Given the description of an element on the screen output the (x, y) to click on. 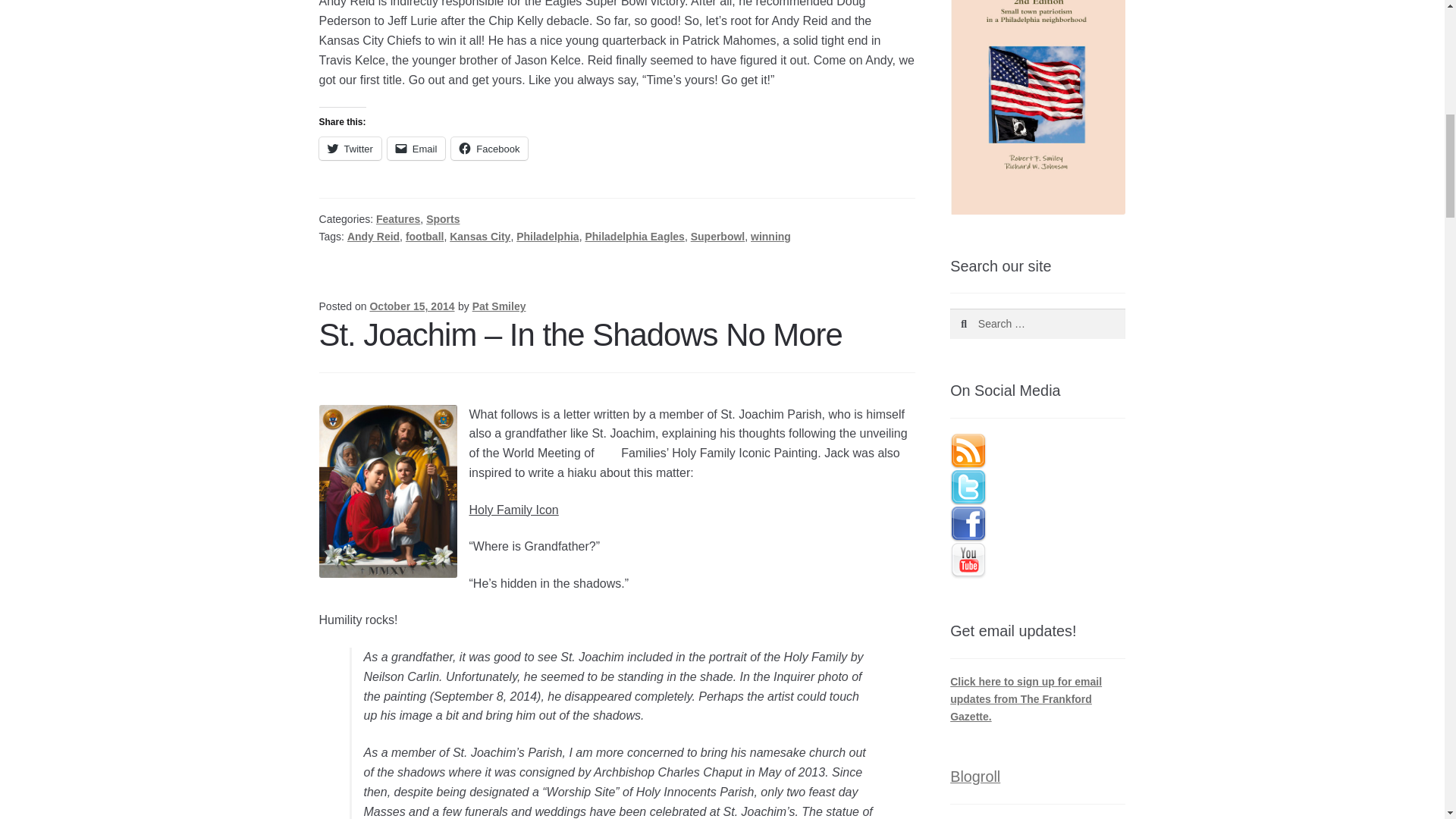
Click to share on Twitter (349, 148)
Facebook (489, 148)
Email (416, 148)
Twitter (349, 148)
Click to share on Facebook (489, 148)
Click to email a link to a friend (416, 148)
Features (397, 218)
